Given the description of an element on the screen output the (x, y) to click on. 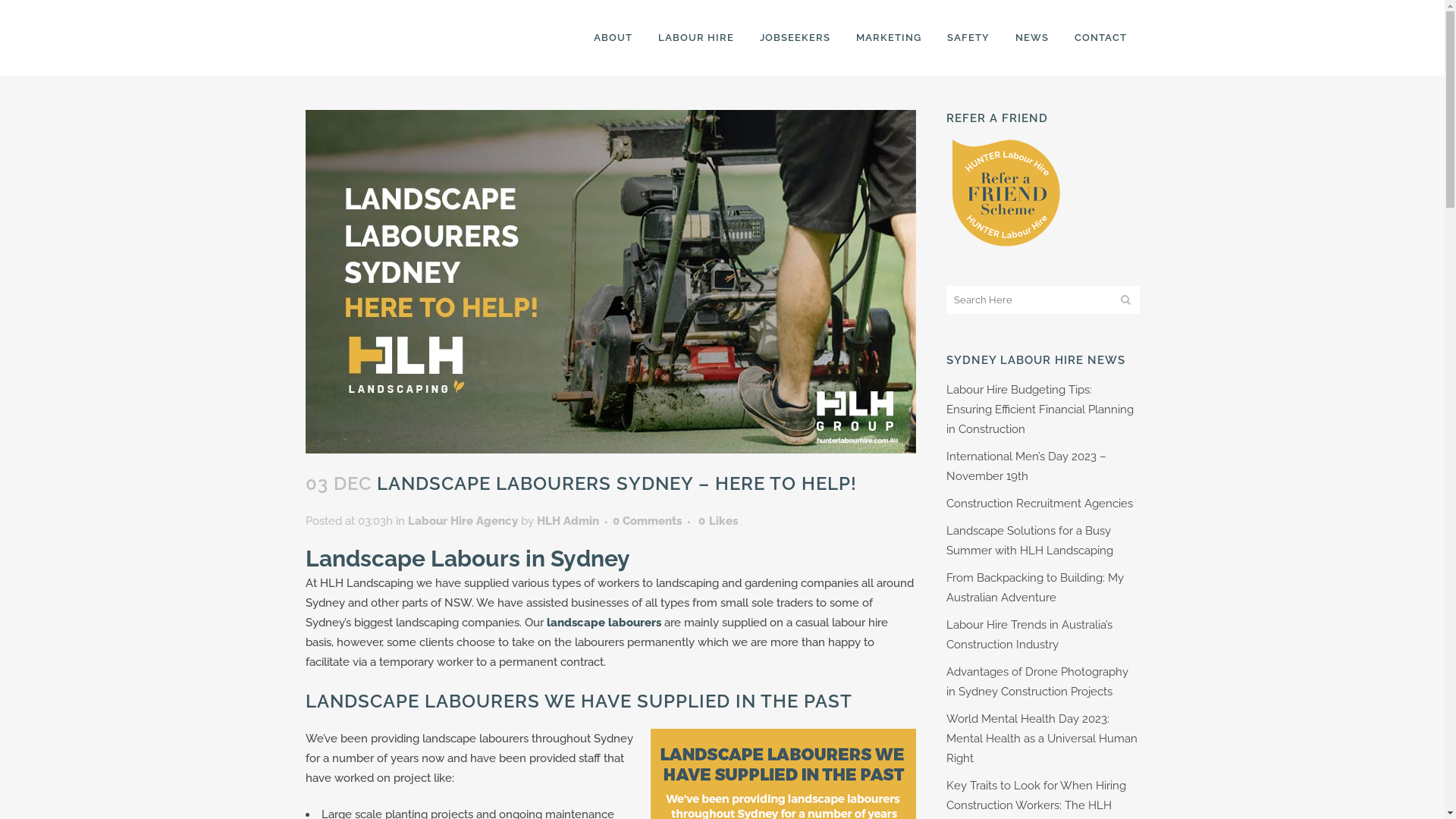
Hunter Labour Hire - Refer A Friend Element type: hover (1005, 244)
Labour Hire Agency Element type: text (462, 520)
0 Comments Element type: text (646, 520)
landscape labourers Element type: text (603, 622)
MARKETING Element type: text (888, 37)
NEWS Element type: text (1031, 37)
LABOUR HIRE Element type: text (695, 37)
Construction Recruitment Agencies Element type: text (1039, 503)
ABOUT Element type: text (612, 37)
Landscape Solutions for a Busy Summer with HLH Landscaping Element type: text (1029, 540)
HLH Admin Element type: text (567, 520)
JOBSEEKERS Element type: text (794, 37)
SAFETY Element type: text (968, 37)
From Backpacking to Building: My Australian Adventure Element type: text (1034, 587)
0 Likes Element type: text (717, 520)
CONTACT Element type: text (1100, 37)
